Given the description of an element on the screen output the (x, y) to click on. 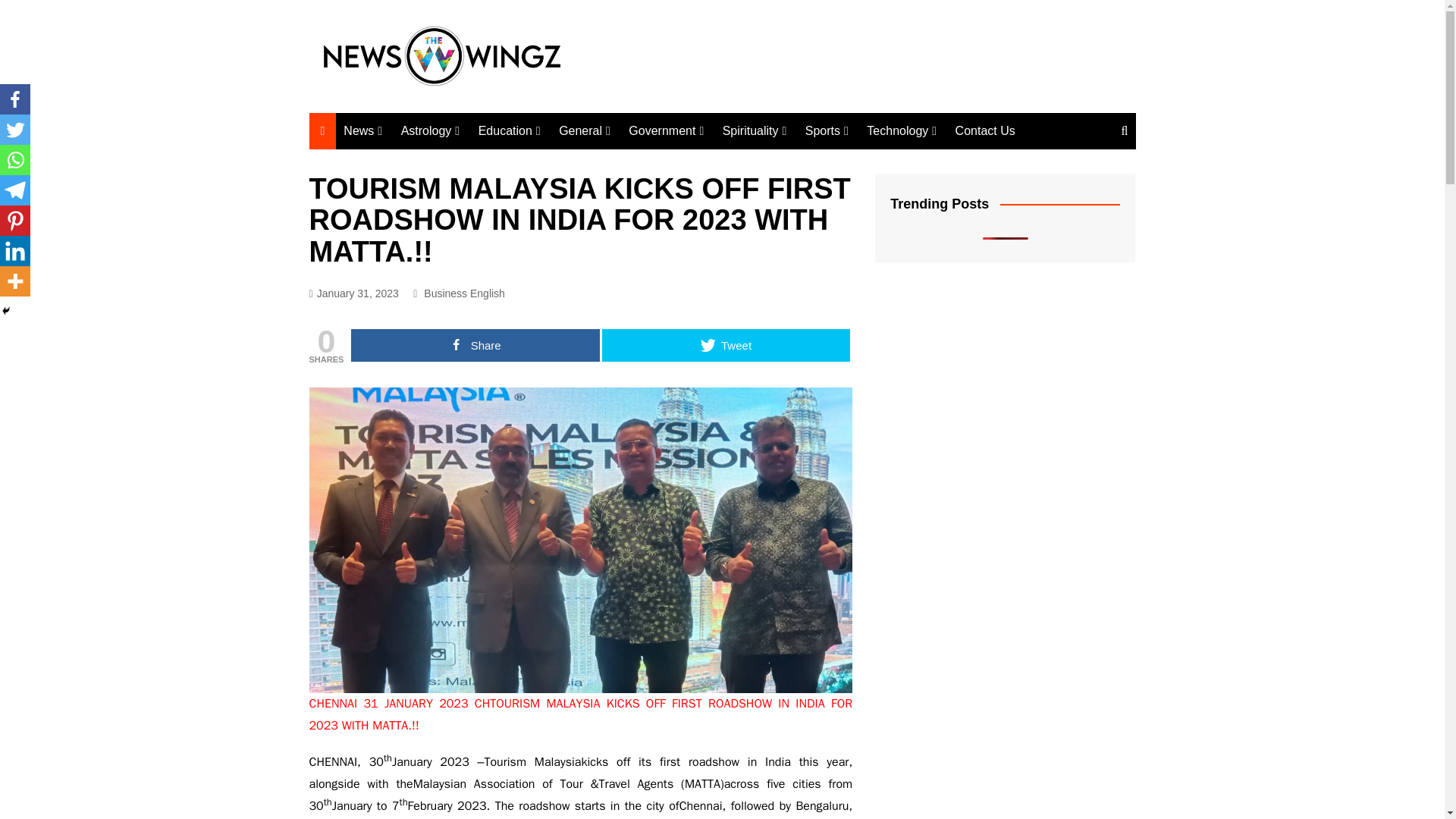
Linkedin (15, 250)
Cinema Tamil (585, 263)
News (363, 131)
Astrology Tamil (476, 161)
Business Tamil (585, 212)
Hide (5, 310)
More (15, 281)
Government Tamil (704, 161)
Political (419, 162)
Business English (585, 187)
